Given the description of an element on the screen output the (x, y) to click on. 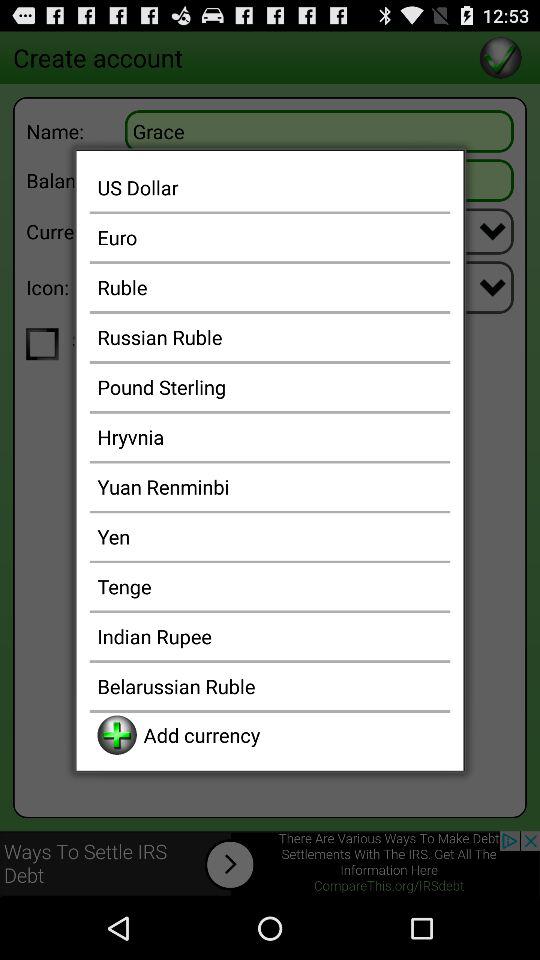
press the app to the left of the add currency (116, 734)
